Given the description of an element on the screen output the (x, y) to click on. 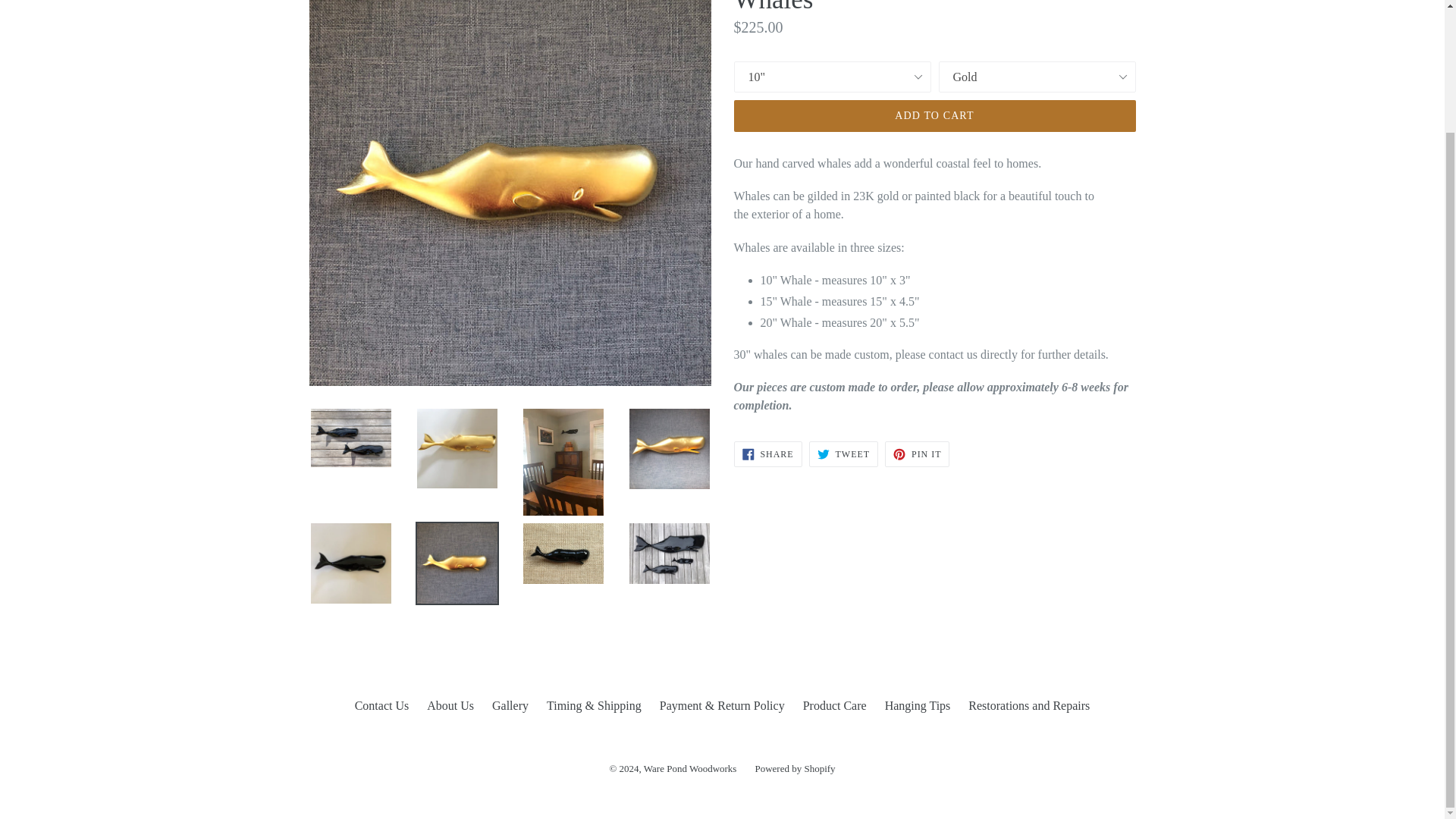
Powered by Shopify (794, 767)
Pin on Pinterest (917, 453)
Ware Pond Woodworks (917, 453)
ADD TO CART (689, 767)
Hanging Tips (934, 115)
Tweet on Twitter (917, 705)
Contact Us (843, 453)
Gallery (382, 705)
About Us (510, 705)
Product Care (767, 453)
Share on Facebook (843, 453)
Restorations and Repairs (450, 705)
